Given the description of an element on the screen output the (x, y) to click on. 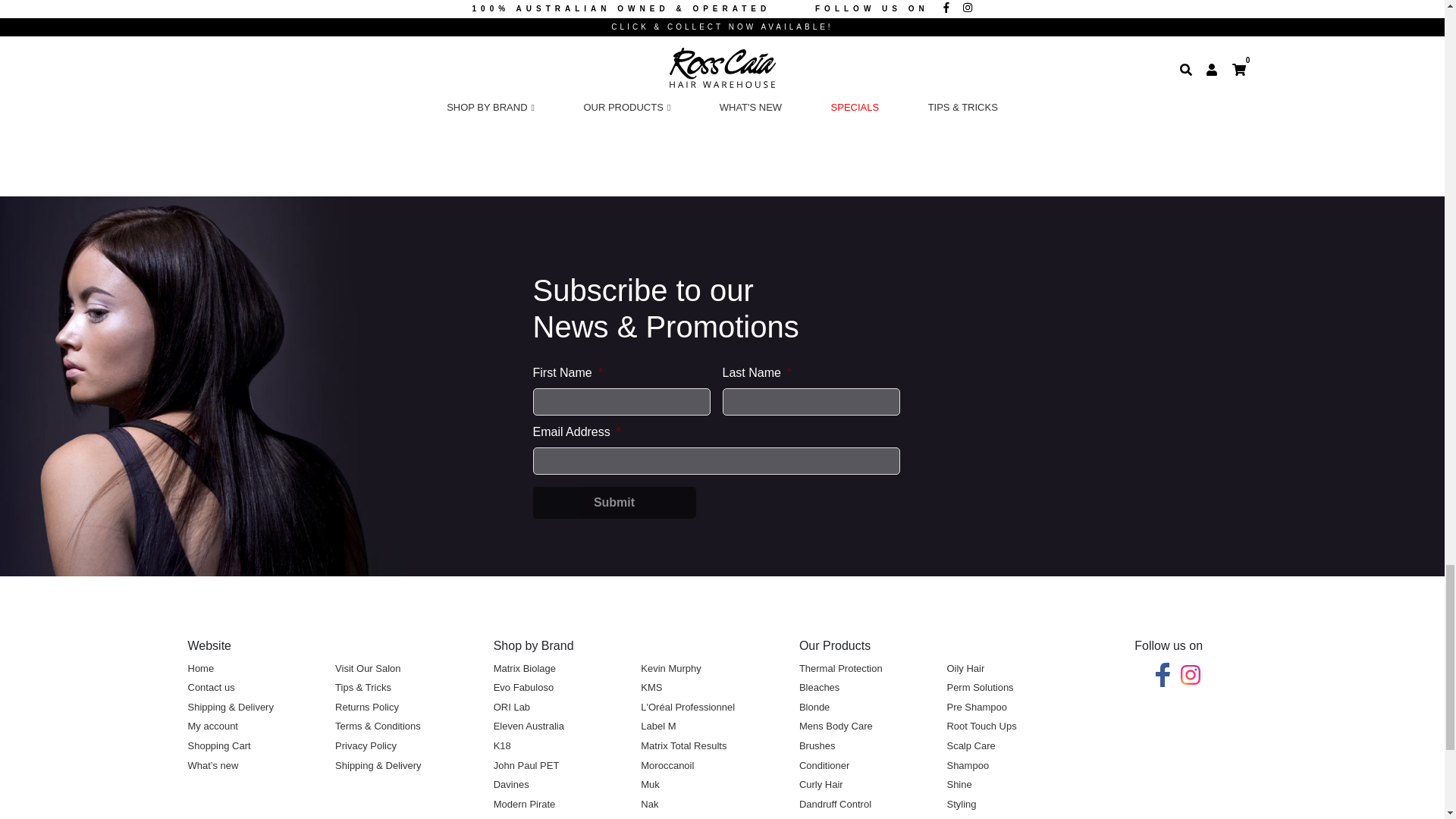
Submit (613, 502)
